Given the description of an element on the screen output the (x, y) to click on. 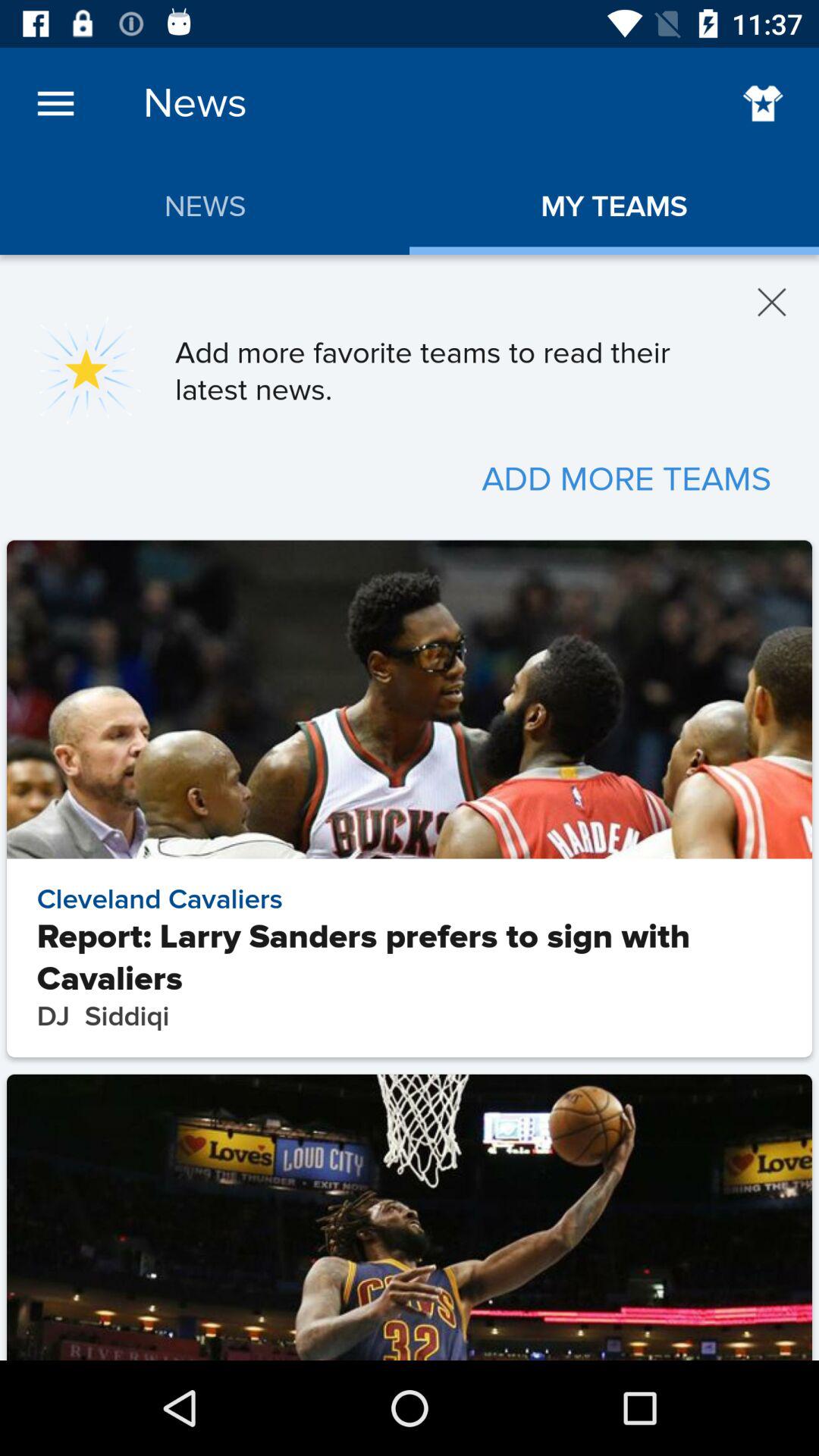
close pop up (772, 302)
